Given the description of an element on the screen output the (x, y) to click on. 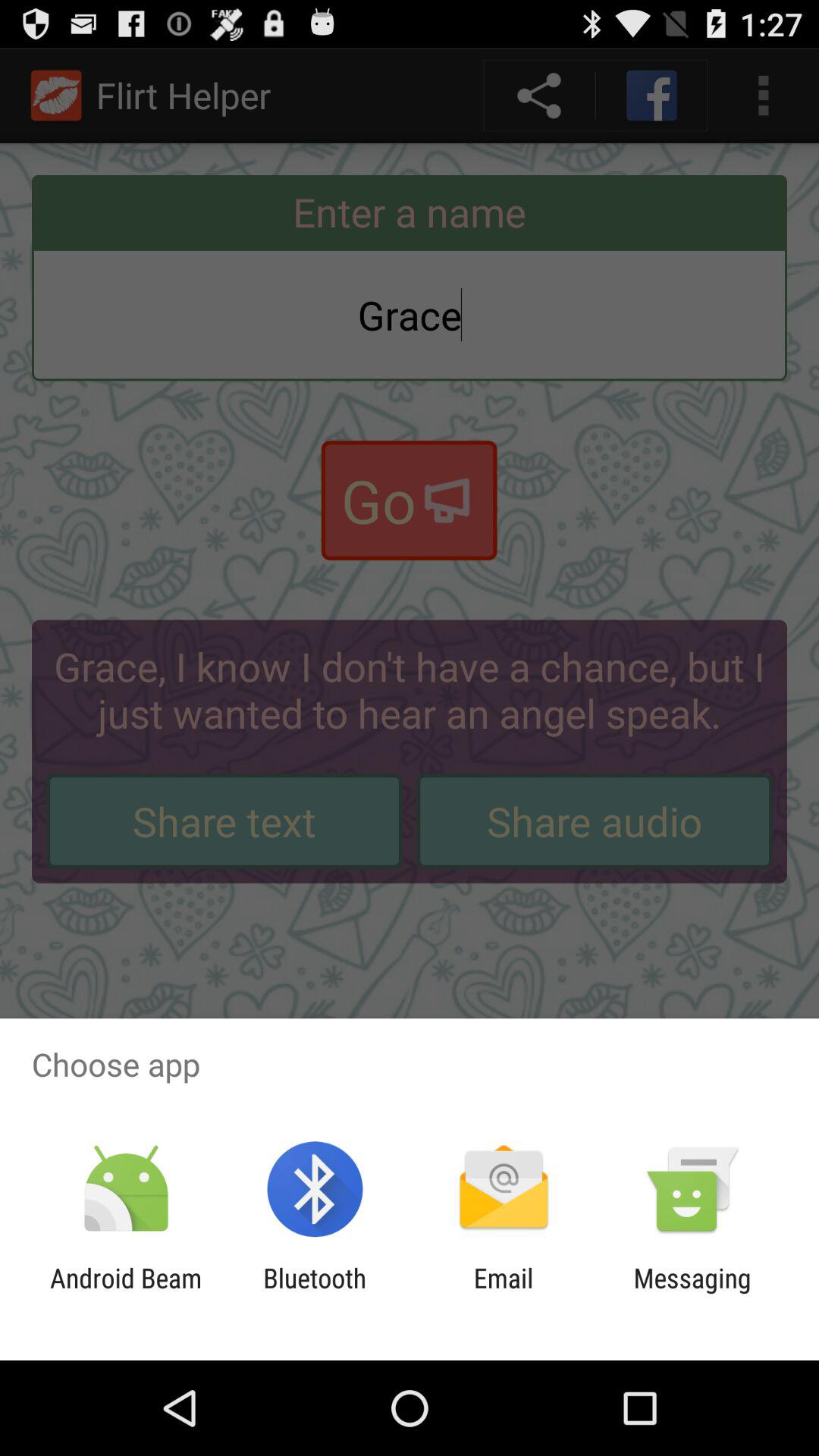
choose the android beam icon (125, 1293)
